Given the description of an element on the screen output the (x, y) to click on. 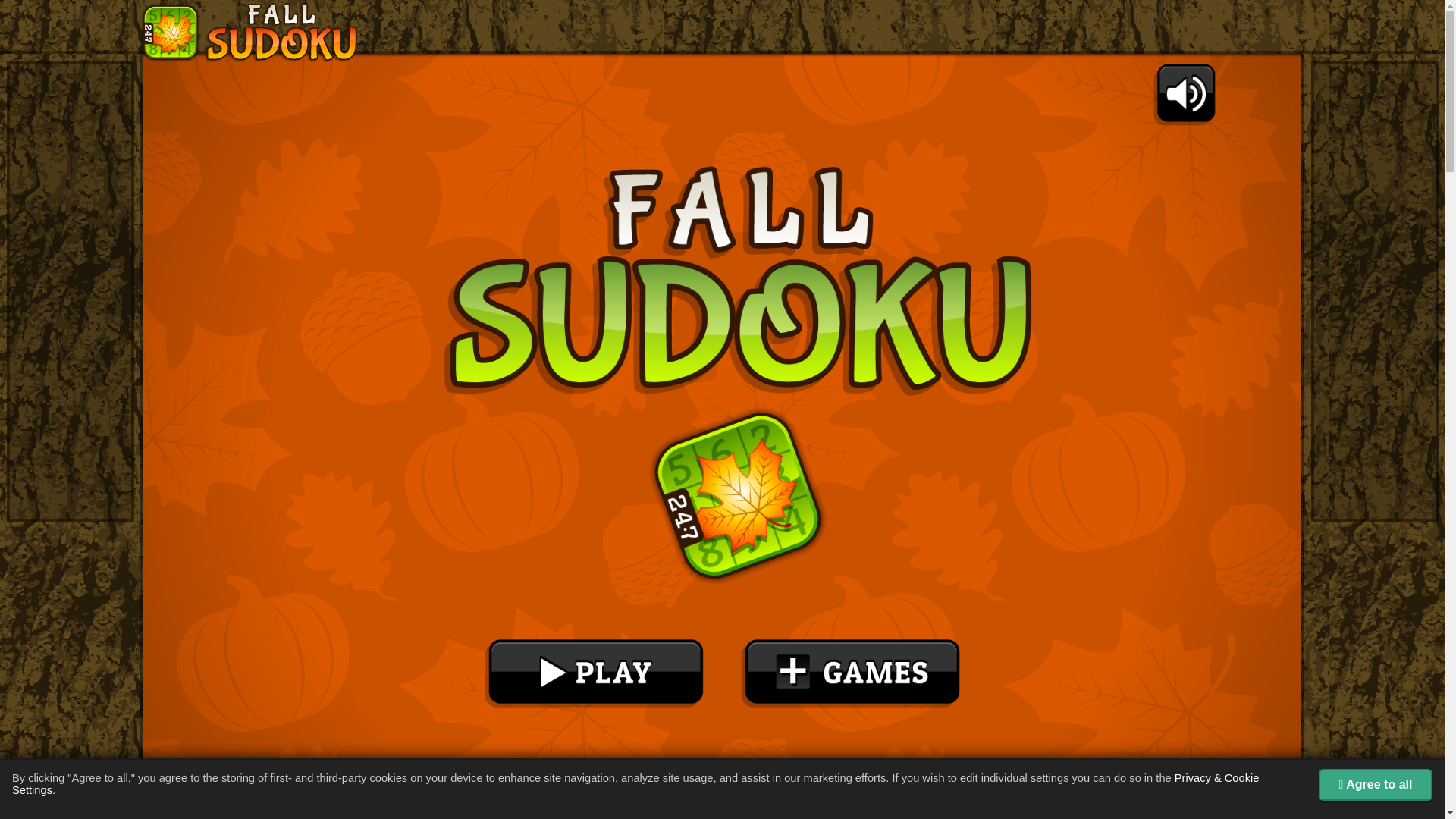
Privacy & Cookie Settings Element type: text (635, 783)
game Element type: hover (722, 430)
